Given the description of an element on the screen output the (x, y) to click on. 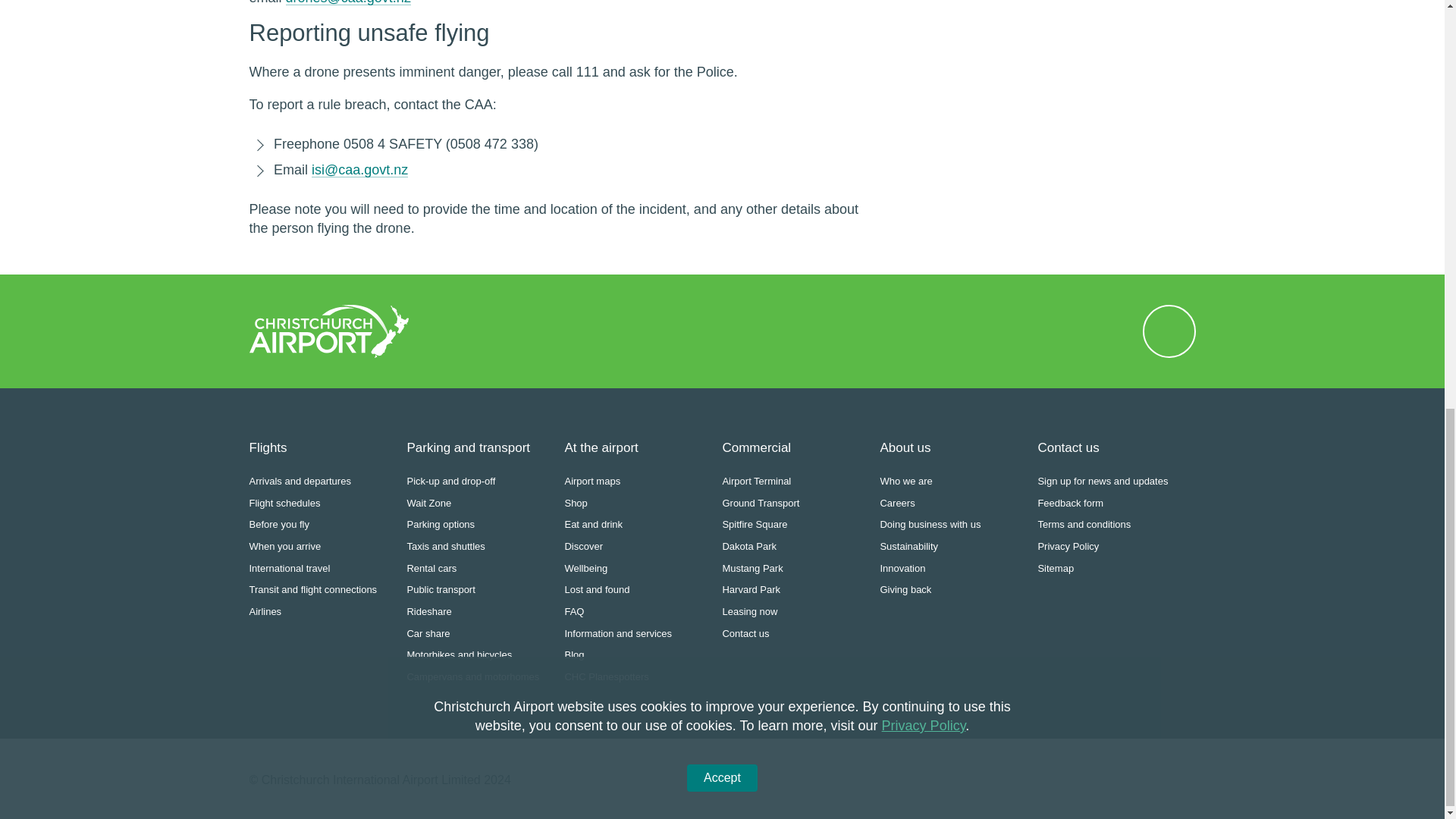
Drones email (347, 2)
CAA email (359, 169)
